Given the description of an element on the screen output the (x, y) to click on. 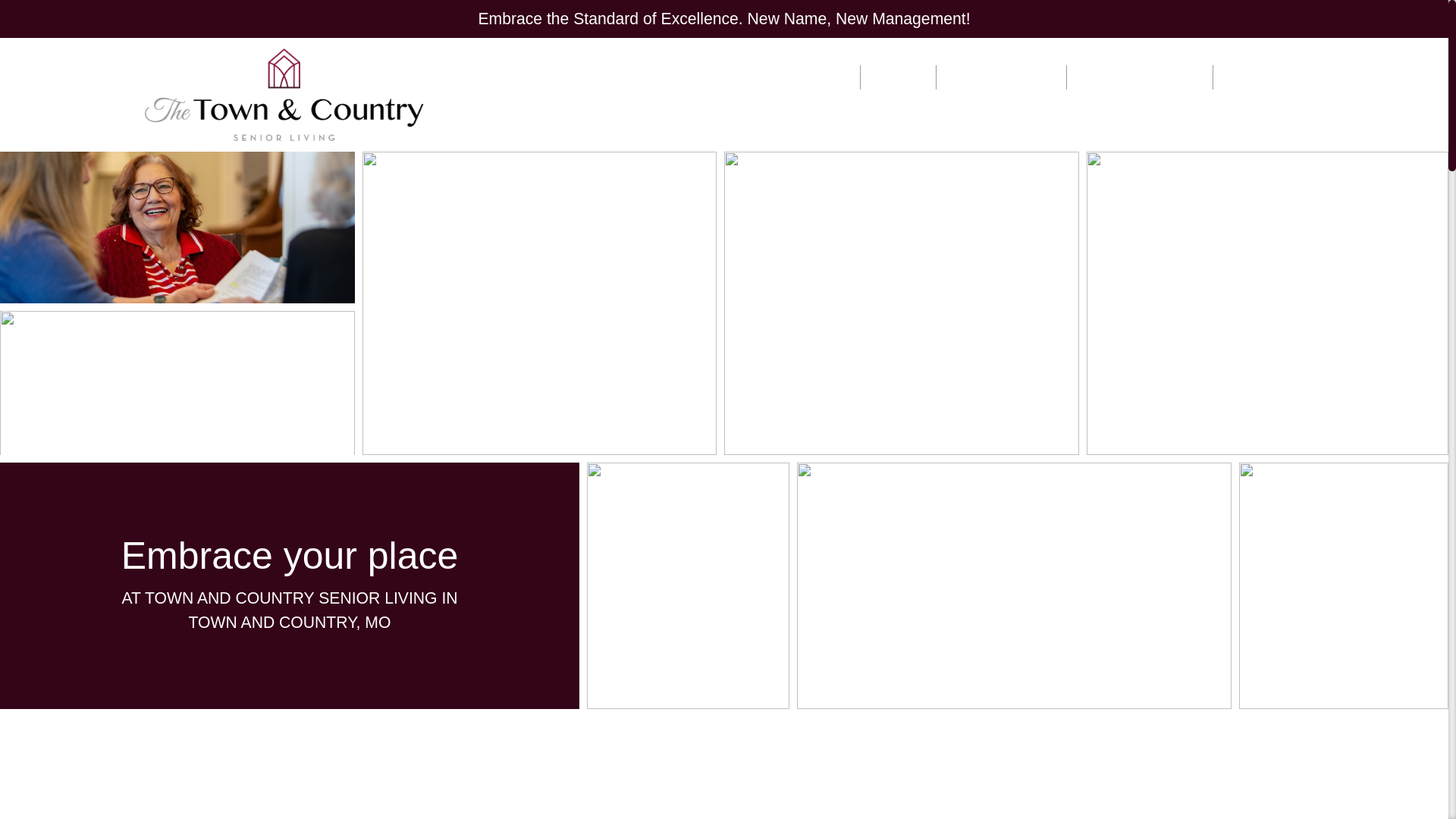
JOIN OUR TEAM (1001, 77)
RESIDENT PORTAL (1139, 77)
SENIOR LIVING SOURCE (771, 77)
NEWS (897, 77)
